Given the description of an element on the screen output the (x, y) to click on. 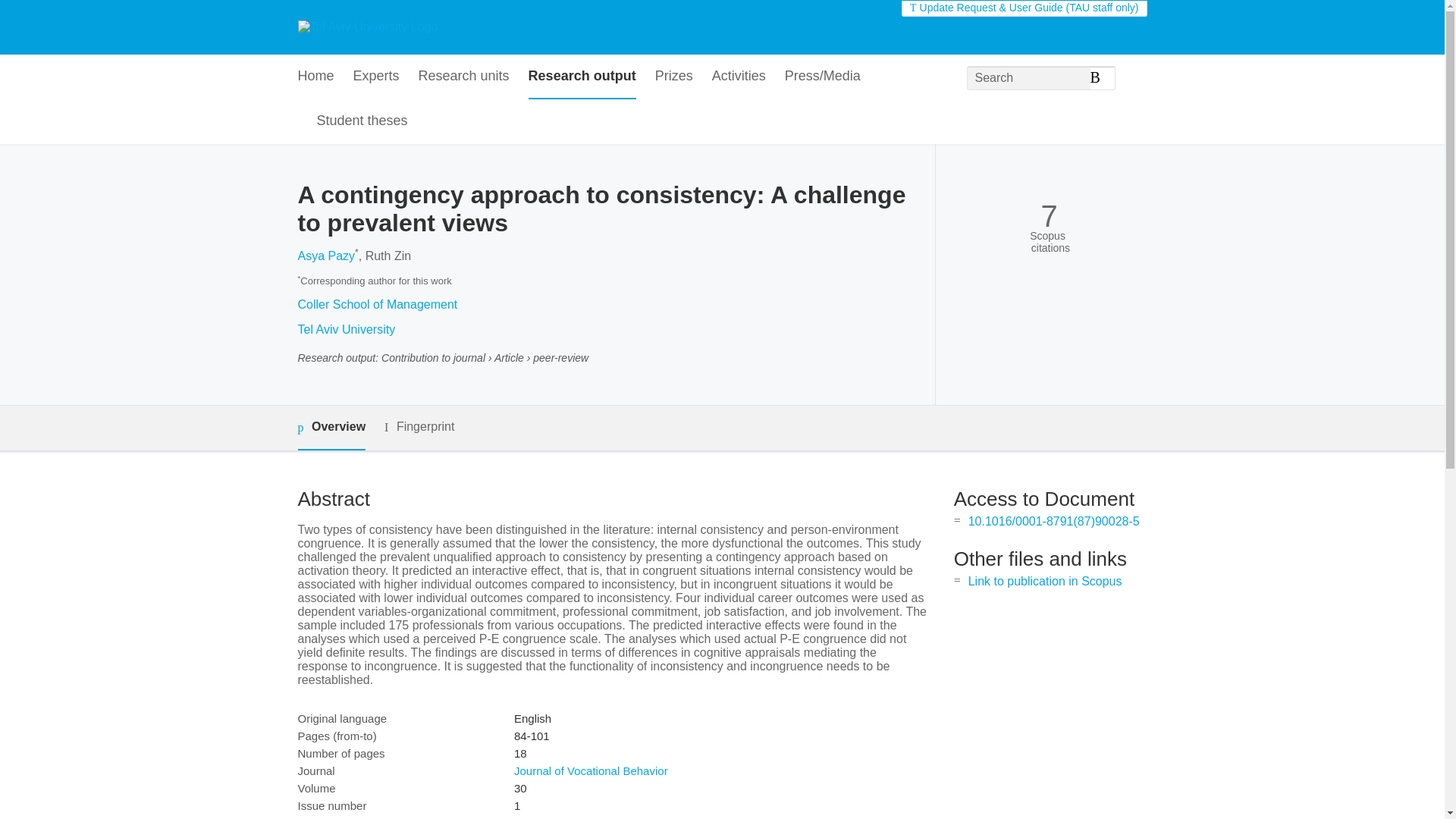
Overview (331, 427)
Research output (582, 76)
Tel Aviv University Home (367, 27)
Coller School of Management (377, 304)
Research units (464, 76)
Asya Pazy (326, 255)
Tel Aviv University (345, 328)
Link to publication in Scopus (1045, 581)
Journal of Vocational Behavior (590, 770)
Fingerprint (419, 426)
